Given the description of an element on the screen output the (x, y) to click on. 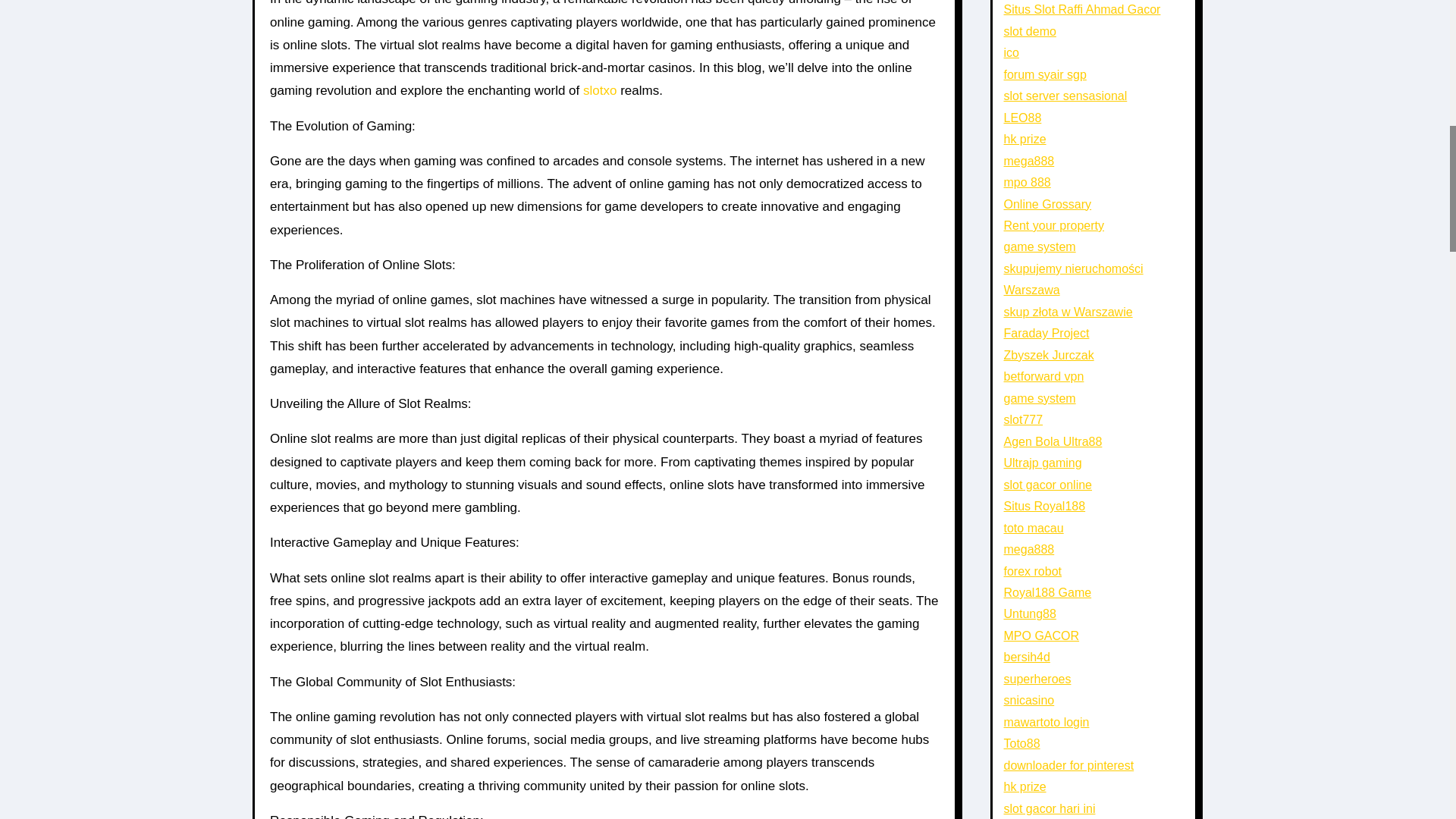
slotxo (599, 90)
